Given the description of an element on the screen output the (x, y) to click on. 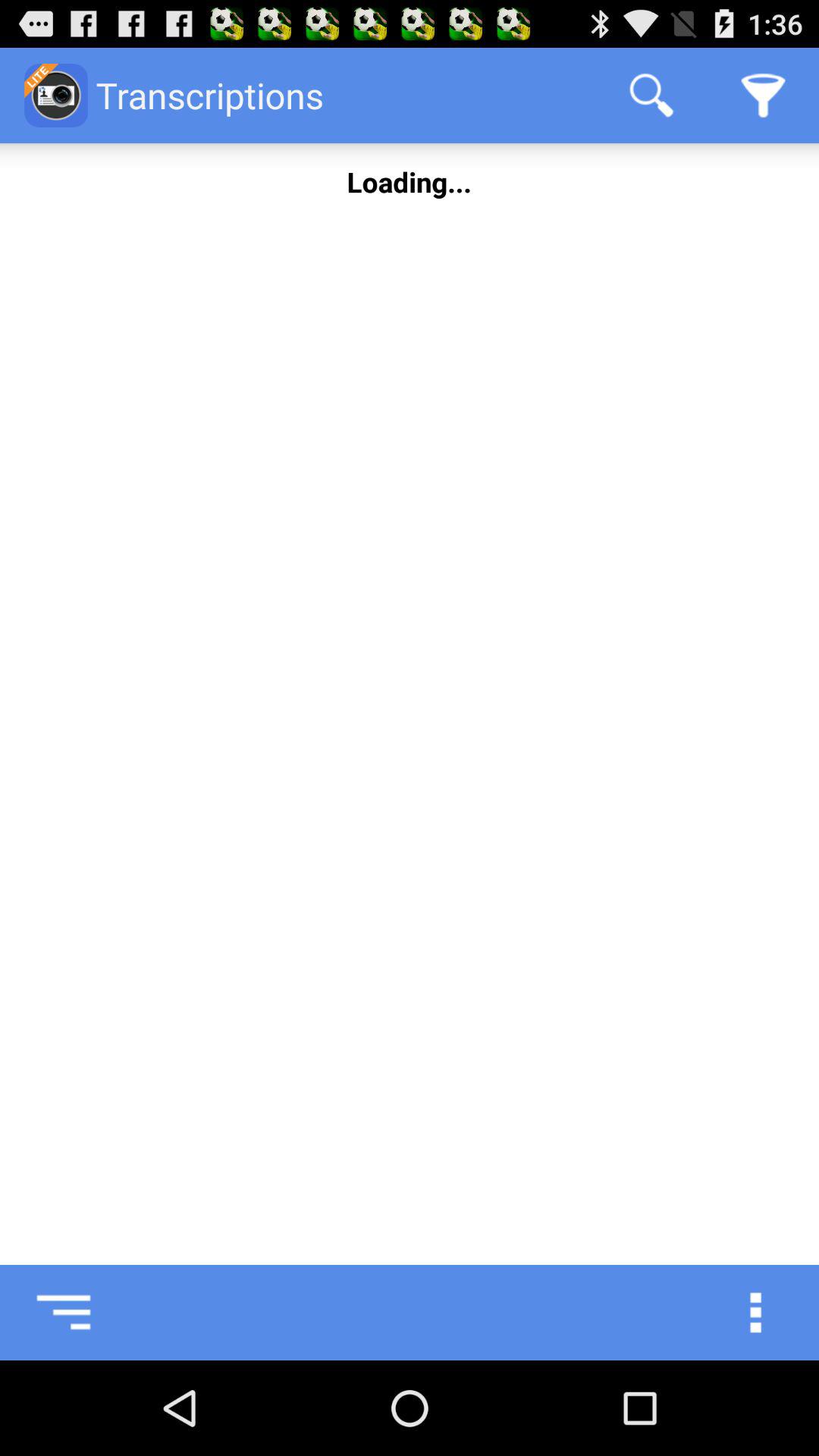
see saved transcriptions (47, 1312)
